Given the description of an element on the screen output the (x, y) to click on. 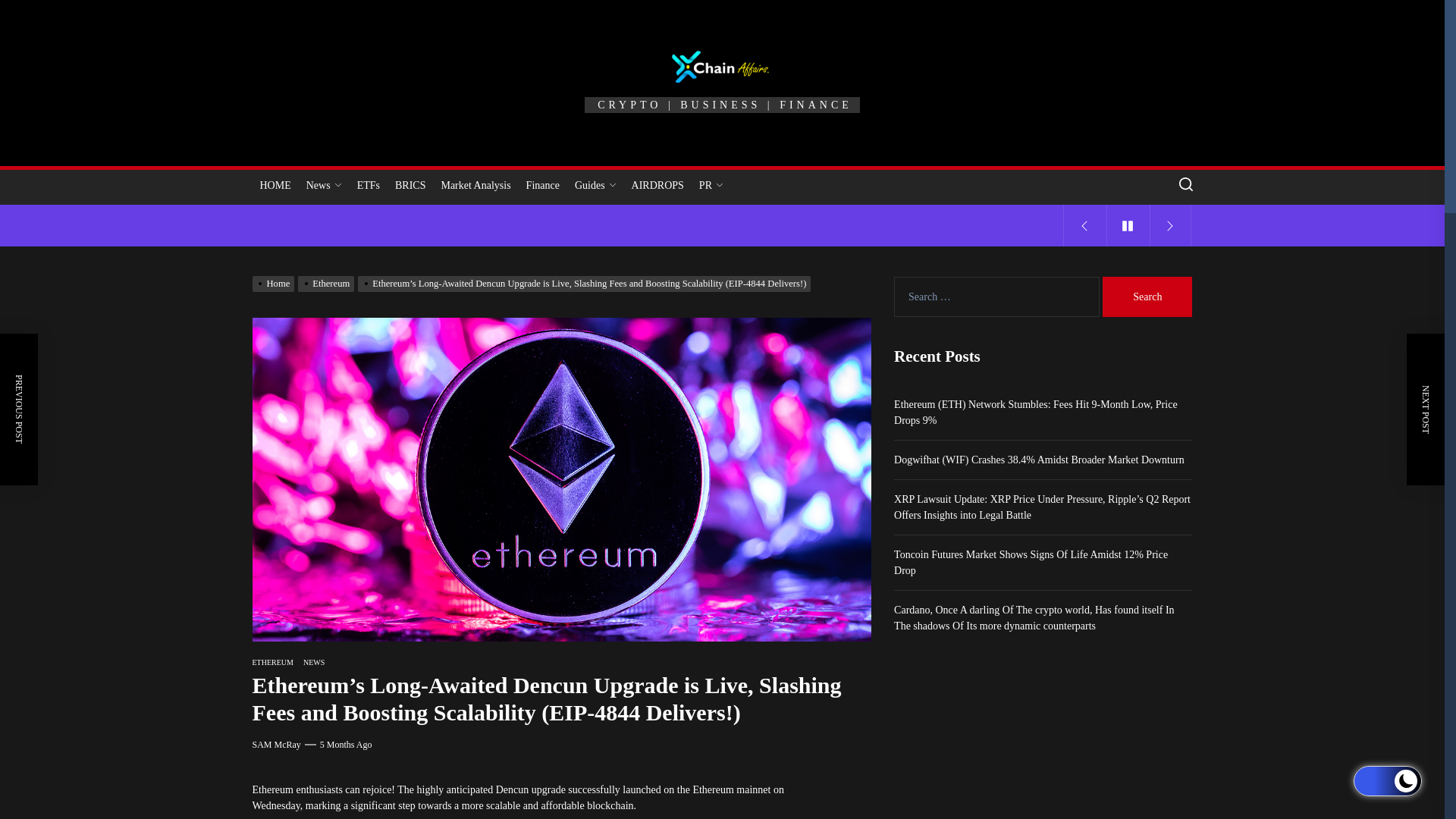
HOME (274, 185)
Search (1147, 296)
ETHEREUM (271, 662)
Finance (542, 185)
BRICS (409, 185)
Chain Affairs (772, 130)
5 Months Ago (346, 744)
AIRDROPS (657, 185)
Market Analysis (475, 185)
Guides (595, 185)
ETFs (368, 185)
SAM McRay (275, 744)
News (323, 185)
NEWS (313, 662)
Home (274, 283)
